Given the description of an element on the screen output the (x, y) to click on. 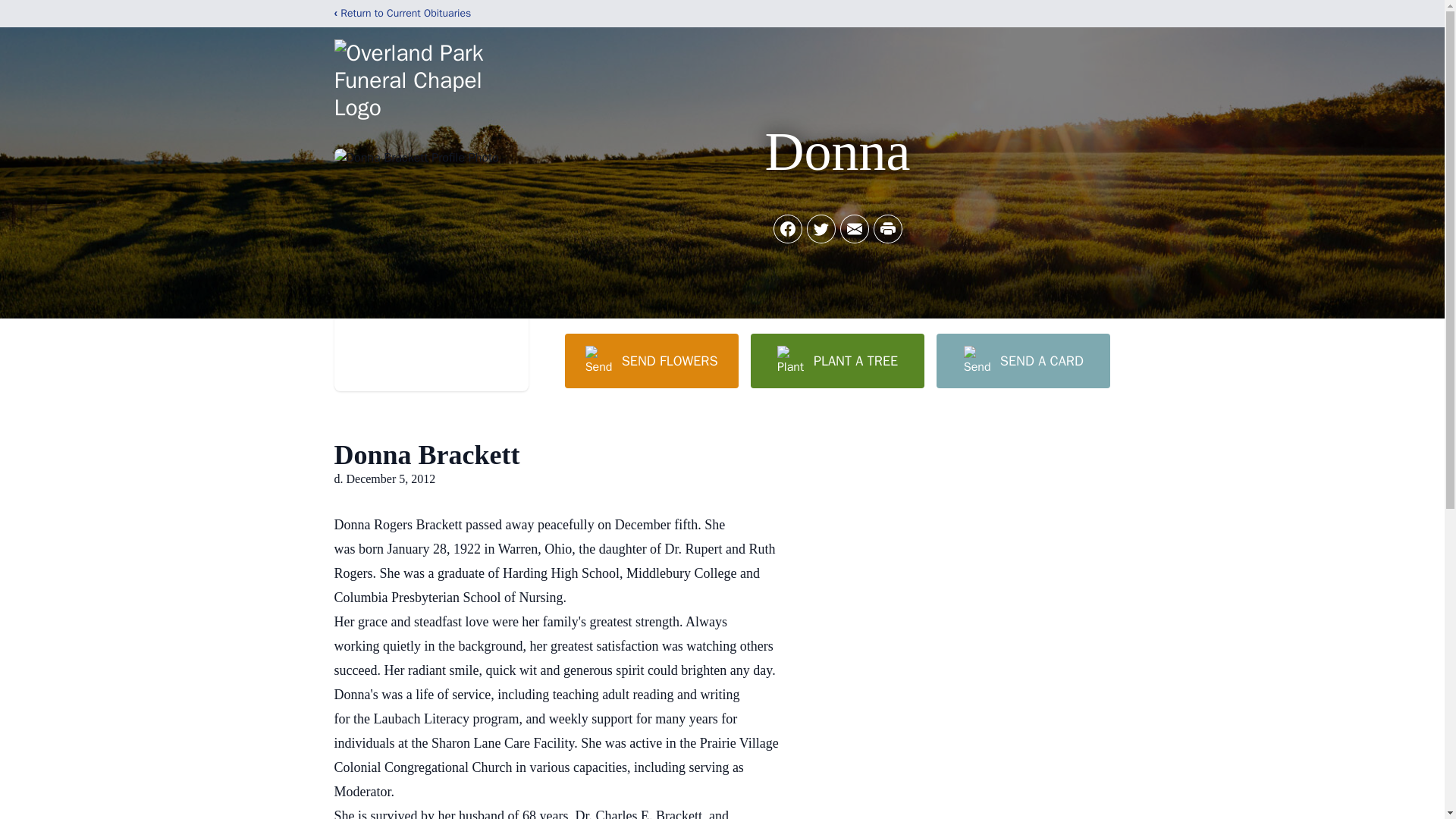
PLANT A TREE (837, 360)
SEND FLOWERS (651, 360)
SEND A CARD (1022, 360)
